Given the description of an element on the screen output the (x, y) to click on. 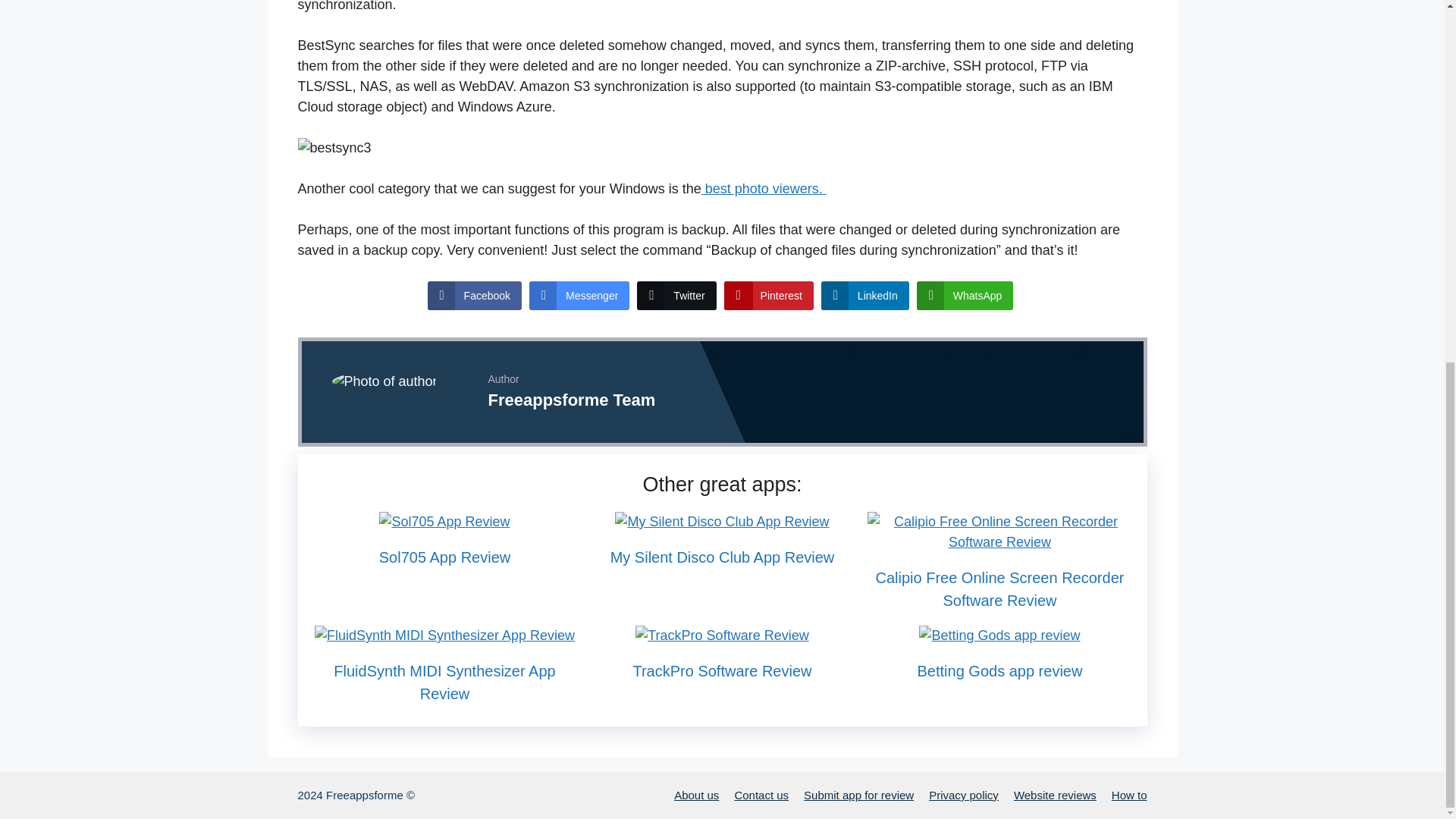
WhatsApp (965, 295)
TrackPro Software Review (720, 670)
TrackPro Software Review (721, 635)
Facebook (474, 295)
How to (1129, 794)
Privacy policy (963, 794)
Contact us (761, 794)
My Silent Disco Club App Review (722, 556)
Messenger (578, 295)
FluidSynth MIDI Synthesizer App Review (443, 681)
